Given the description of an element on the screen output the (x, y) to click on. 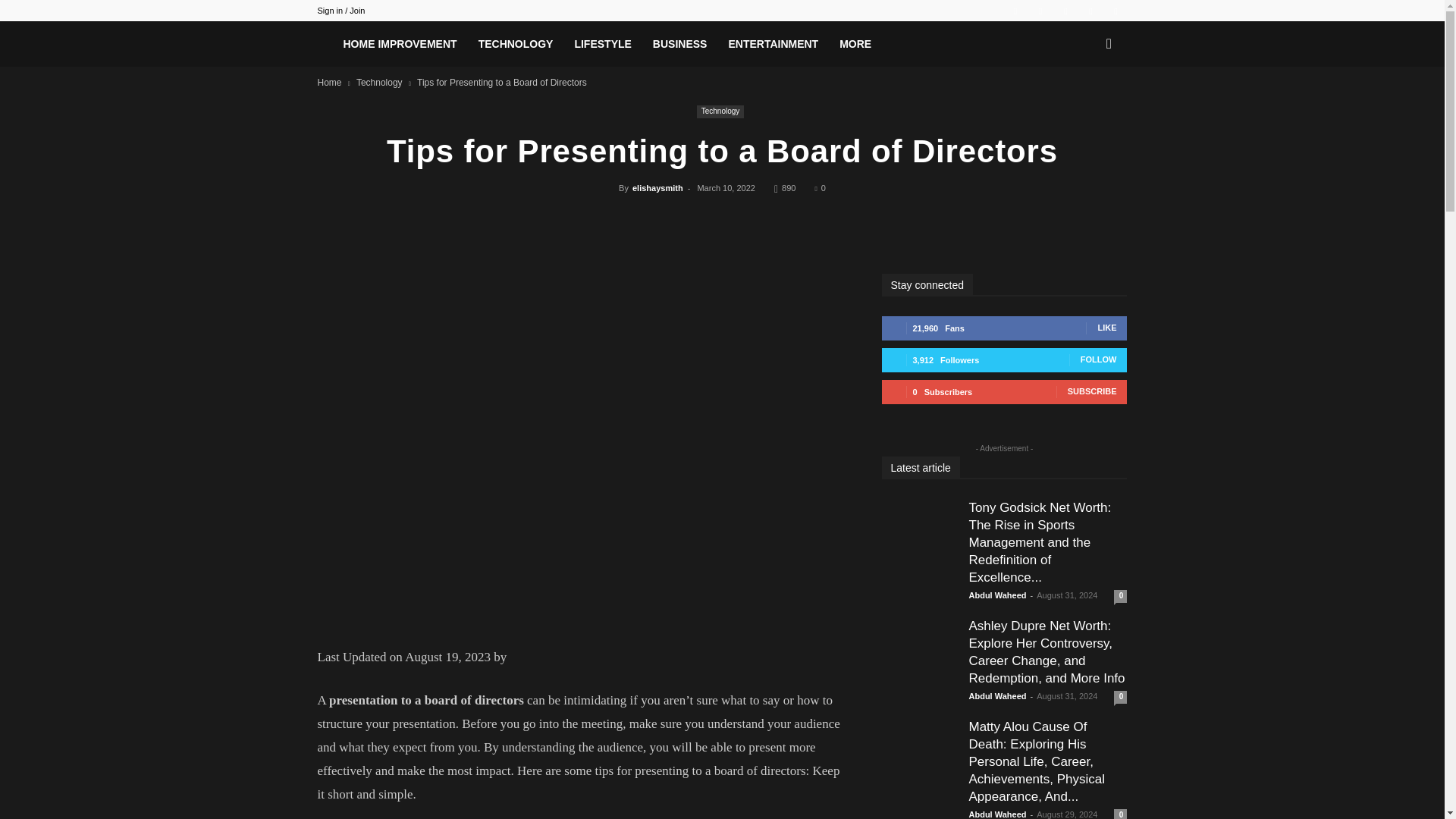
Twitter (1065, 10)
View all posts in Technology (379, 81)
TECHNOLOGY (515, 43)
Vimeo (1090, 10)
VKontakte (1114, 10)
HOME IMPROVEMENT (399, 43)
Facebook (1040, 10)
Behance (1015, 10)
Digestley (324, 47)
